Given the description of an element on the screen output the (x, y) to click on. 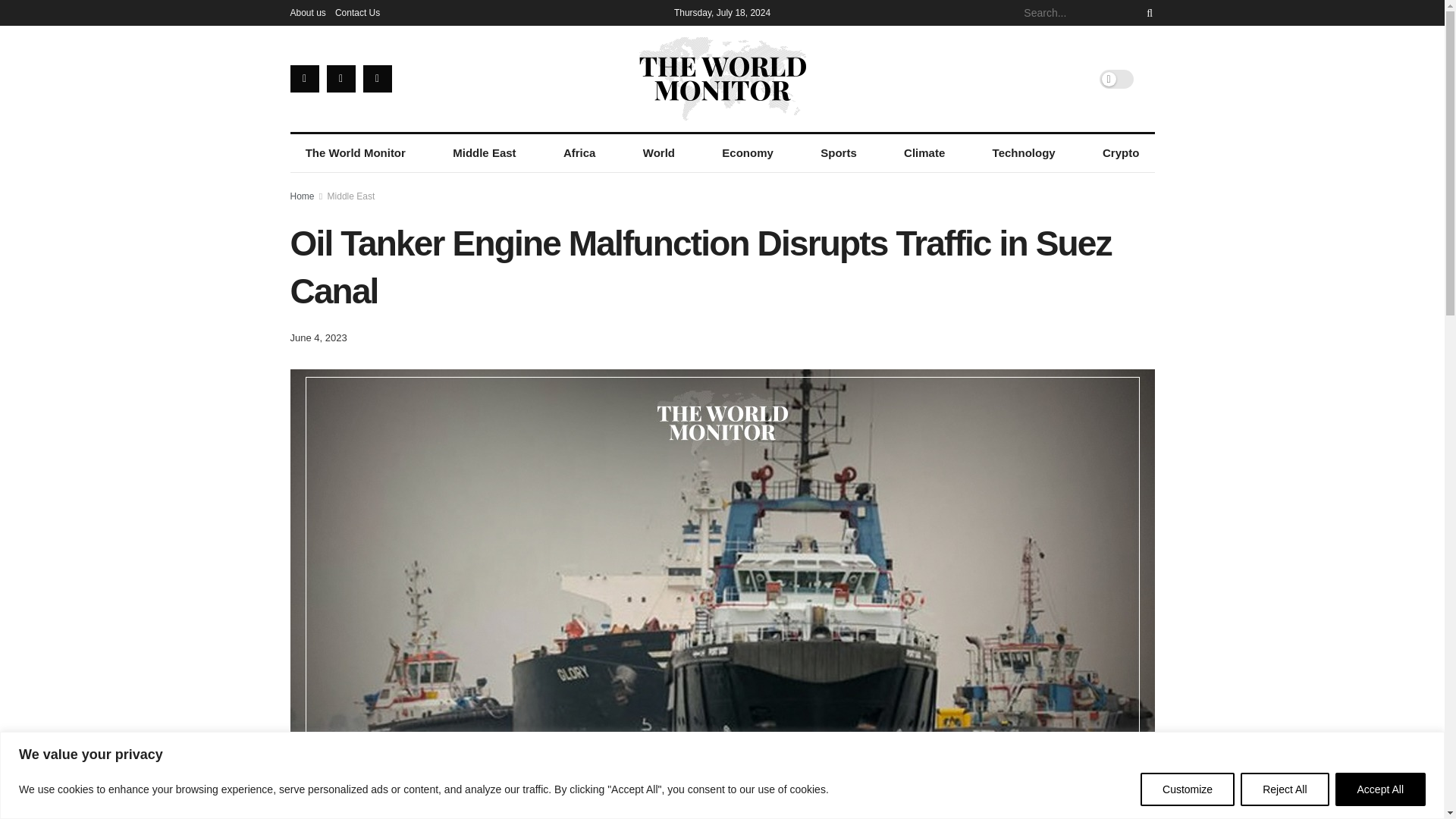
Accept All (1380, 788)
World (658, 152)
Sports (838, 152)
The World Monitor (354, 152)
Middle East (484, 152)
Reject All (1283, 788)
About us (306, 12)
Crypto (1120, 152)
Technology (1023, 152)
Climate (924, 152)
Contact Us (357, 12)
Customize (1187, 788)
Africa (579, 152)
Economy (747, 152)
